Given the description of an element on the screen output the (x, y) to click on. 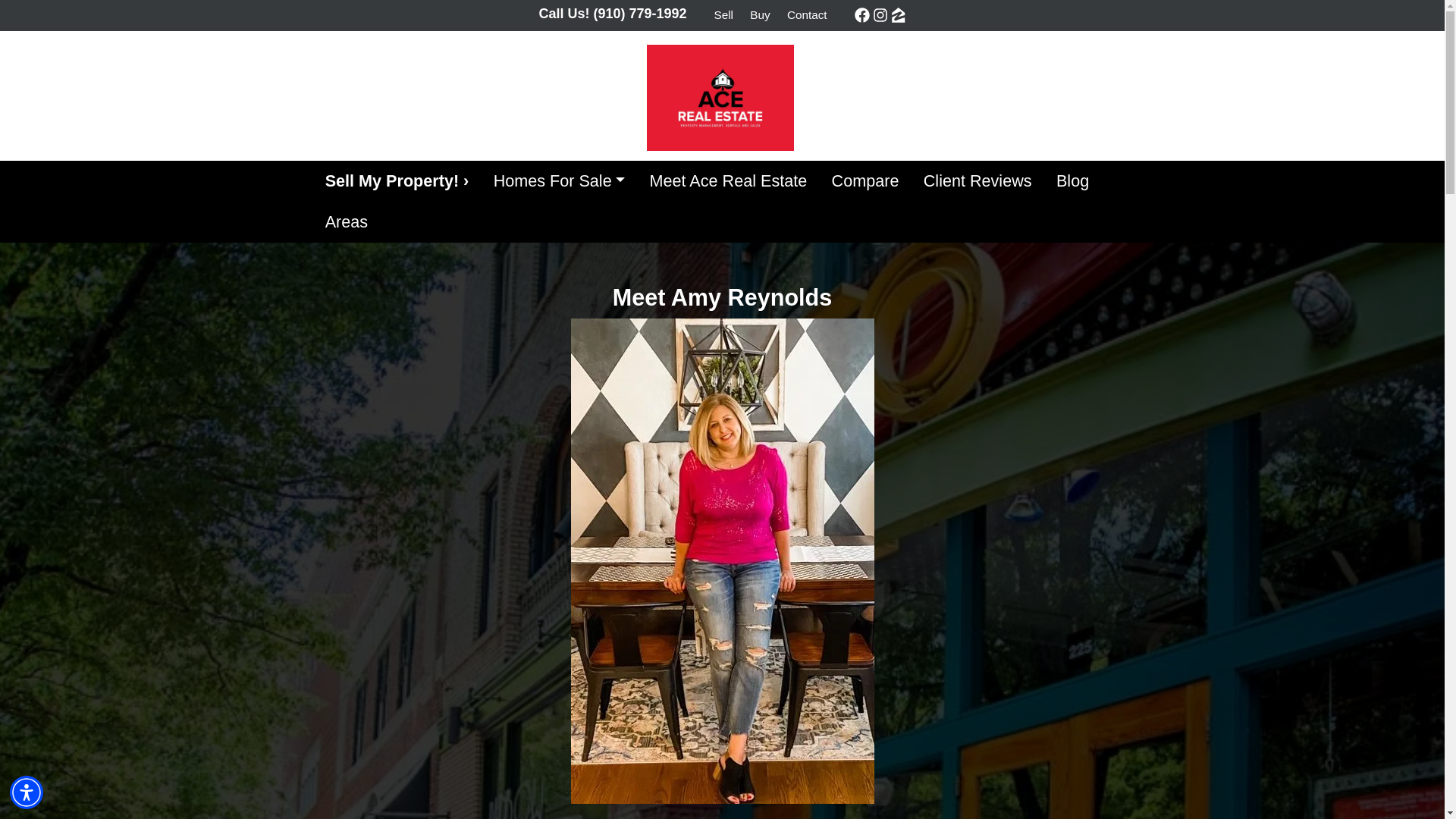
Buy (759, 15)
Areas (346, 221)
Sell (724, 15)
Instagram (880, 14)
Facebook (861, 14)
Compare (864, 180)
Meet Ace Real Estate (727, 180)
Zillow (898, 14)
Blog (1072, 180)
Client Reviews (977, 180)
